Given the description of an element on the screen output the (x, y) to click on. 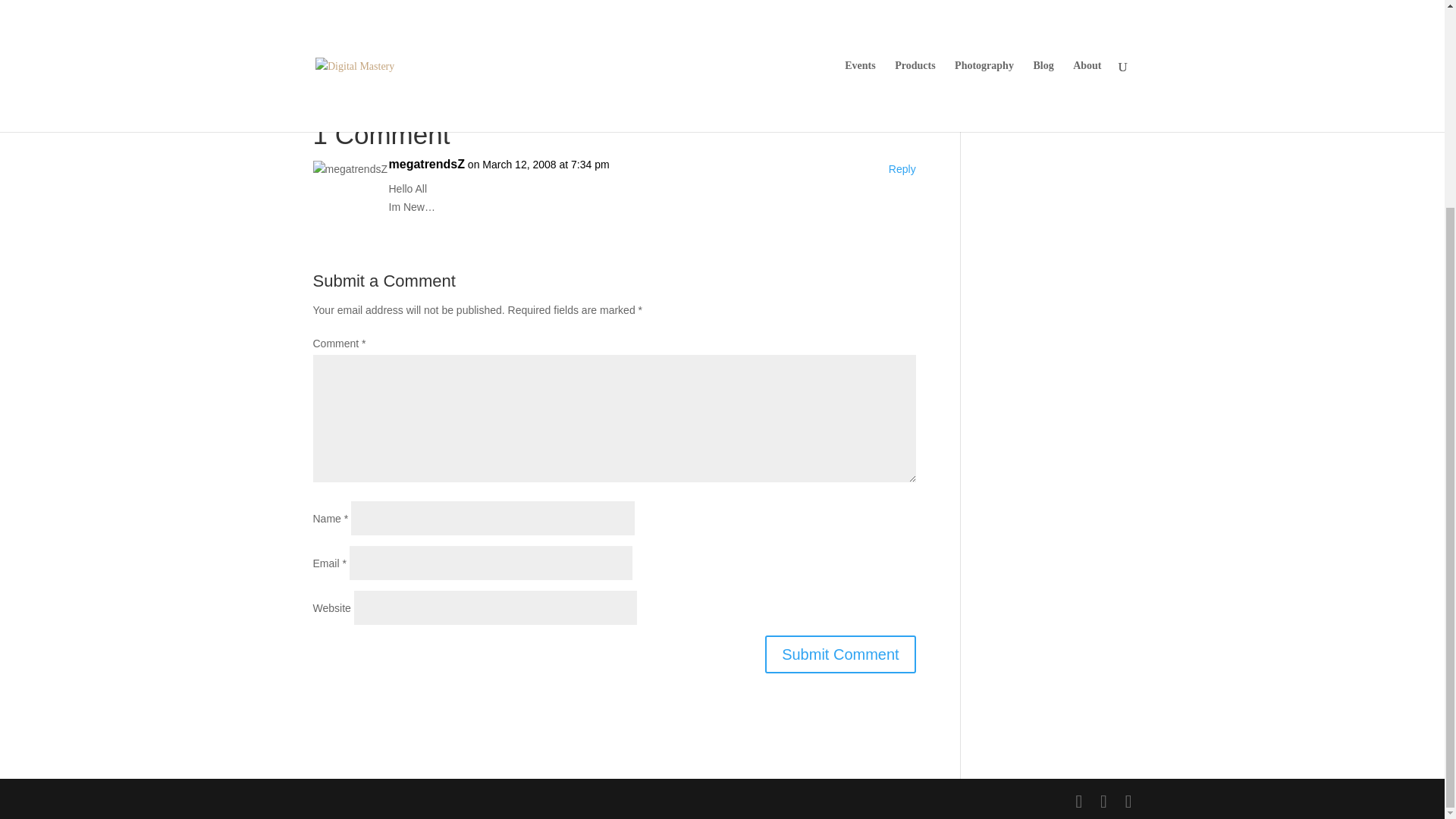
Submit Comment (840, 654)
Submit Comment (840, 654)
Reply (901, 169)
megatrendsZ (426, 164)
